Given the description of an element on the screen output the (x, y) to click on. 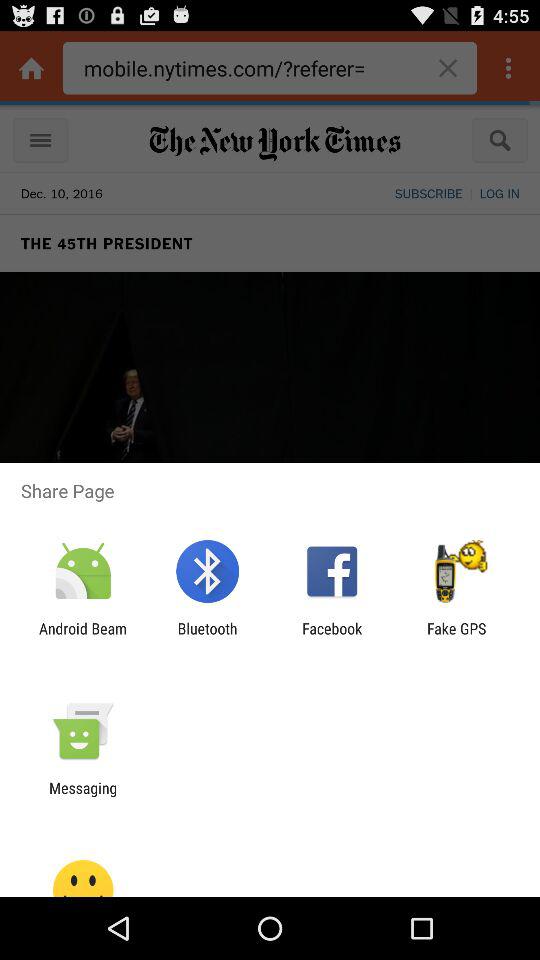
scroll to the fake gps item (456, 637)
